Given the description of an element on the screen output the (x, y) to click on. 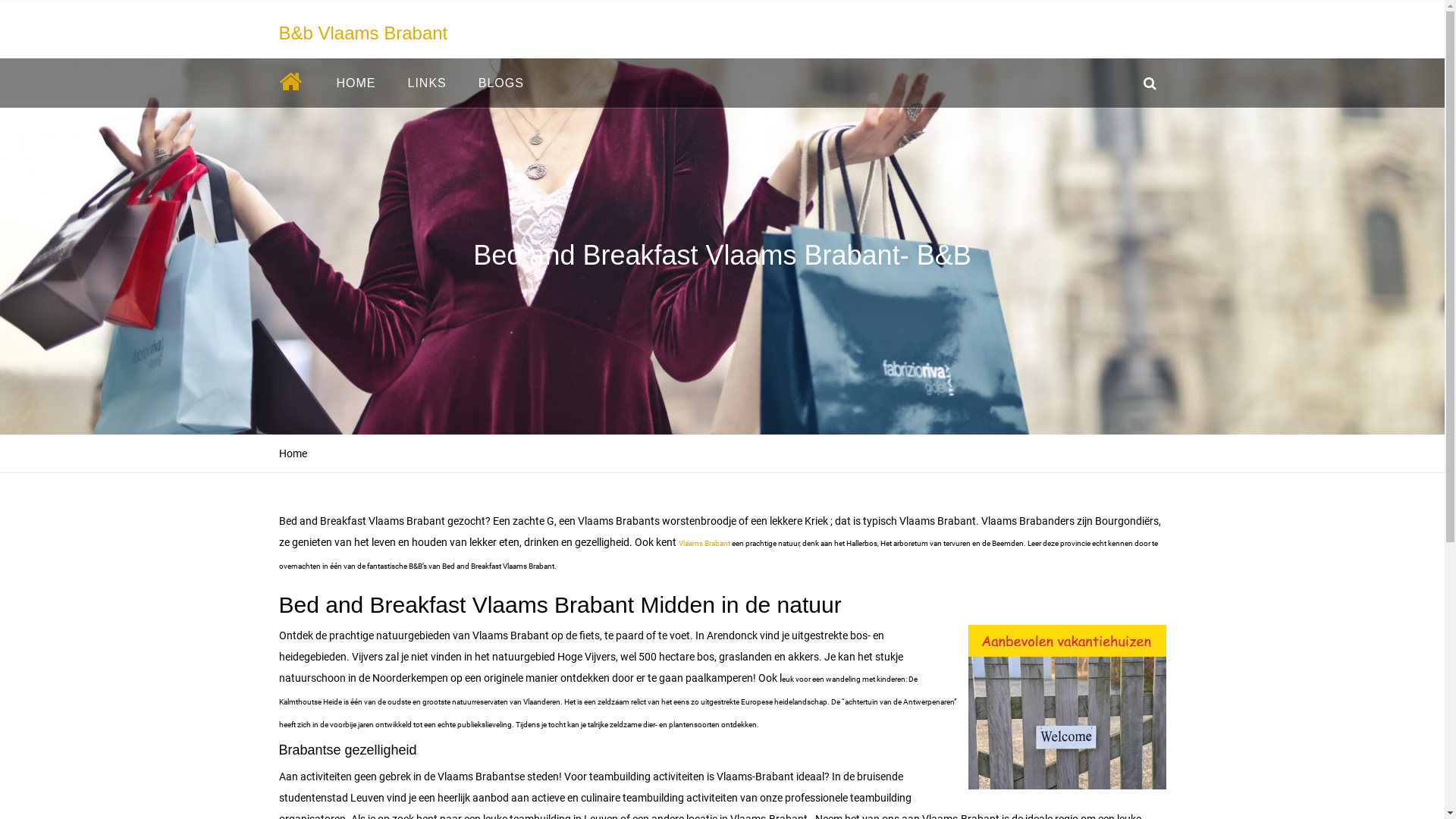
BLOGS Element type: text (500, 82)
HOME Element type: text (355, 82)
LINKS Element type: text (426, 82)
Vlaams Brabant Element type: text (703, 543)
B&b Vlaams Brabant Element type: text (363, 32)
search_icon Element type: hover (1148, 82)
